Given the description of an element on the screen output the (x, y) to click on. 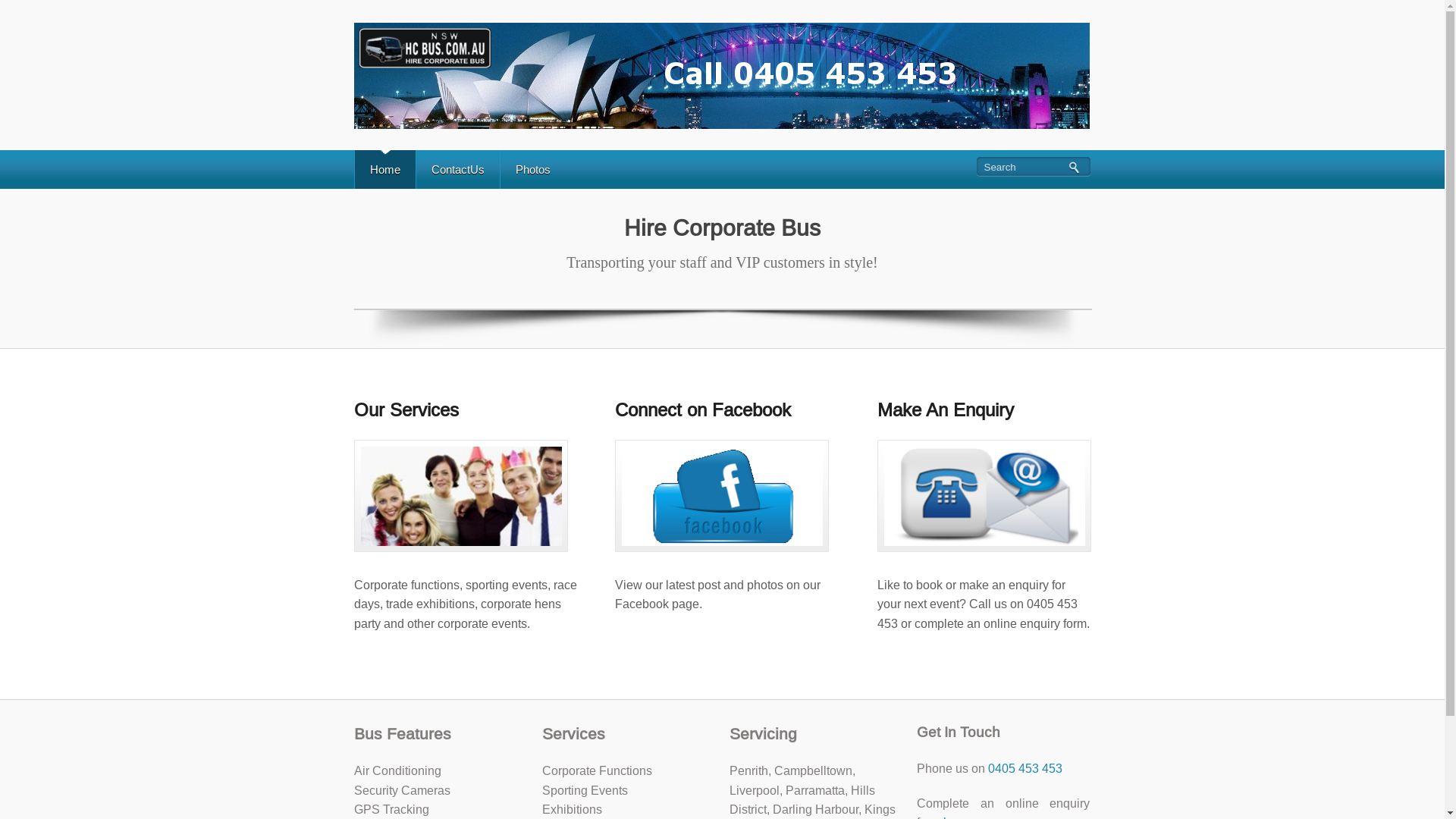
Our Services Element type: text (406, 408)
Make An Enquiry Element type: text (945, 408)
Photos Element type: text (532, 169)
1 Element type: text (721, 328)
0405 453 453 Element type: text (1025, 768)
ContactUs Element type: text (457, 169)
2 Element type: text (731, 328)
Home Element type: text (384, 169)
Connect on Facebook Element type: text (702, 408)
Previous Element type: text (366, 312)
Next Element type: text (1082, 312)
